Given the description of an element on the screen output the (x, y) to click on. 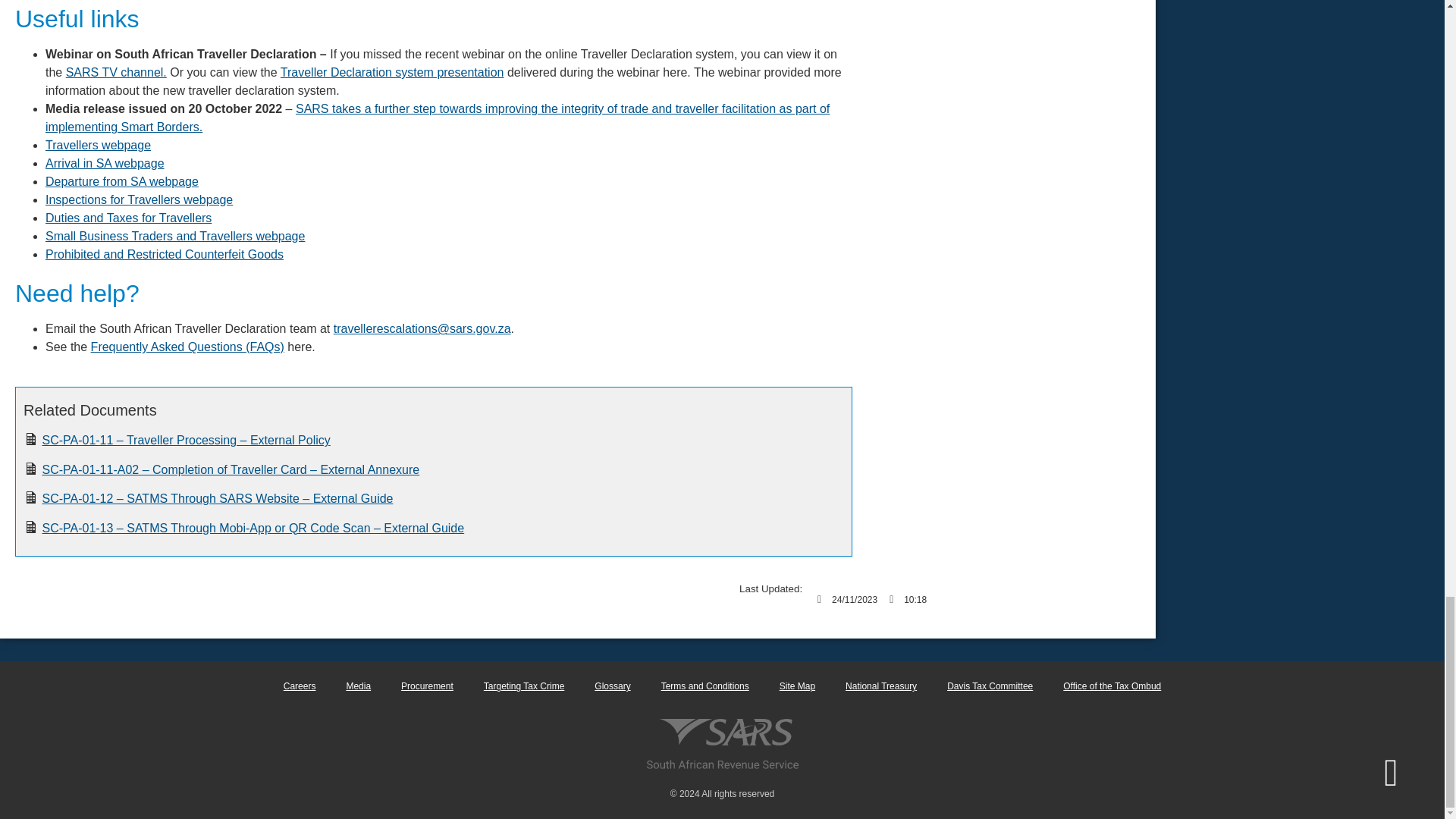
Duties and Taxes for Travellers (128, 217)
Inspections for Travellers webpage (138, 199)
Arrival in SA webpage (104, 163)
Traveller Declaration system presentation (392, 72)
Travellers webpage (98, 144)
SARS TV channel. (116, 72)
Departure from SA webpage (121, 181)
